Given the description of an element on the screen output the (x, y) to click on. 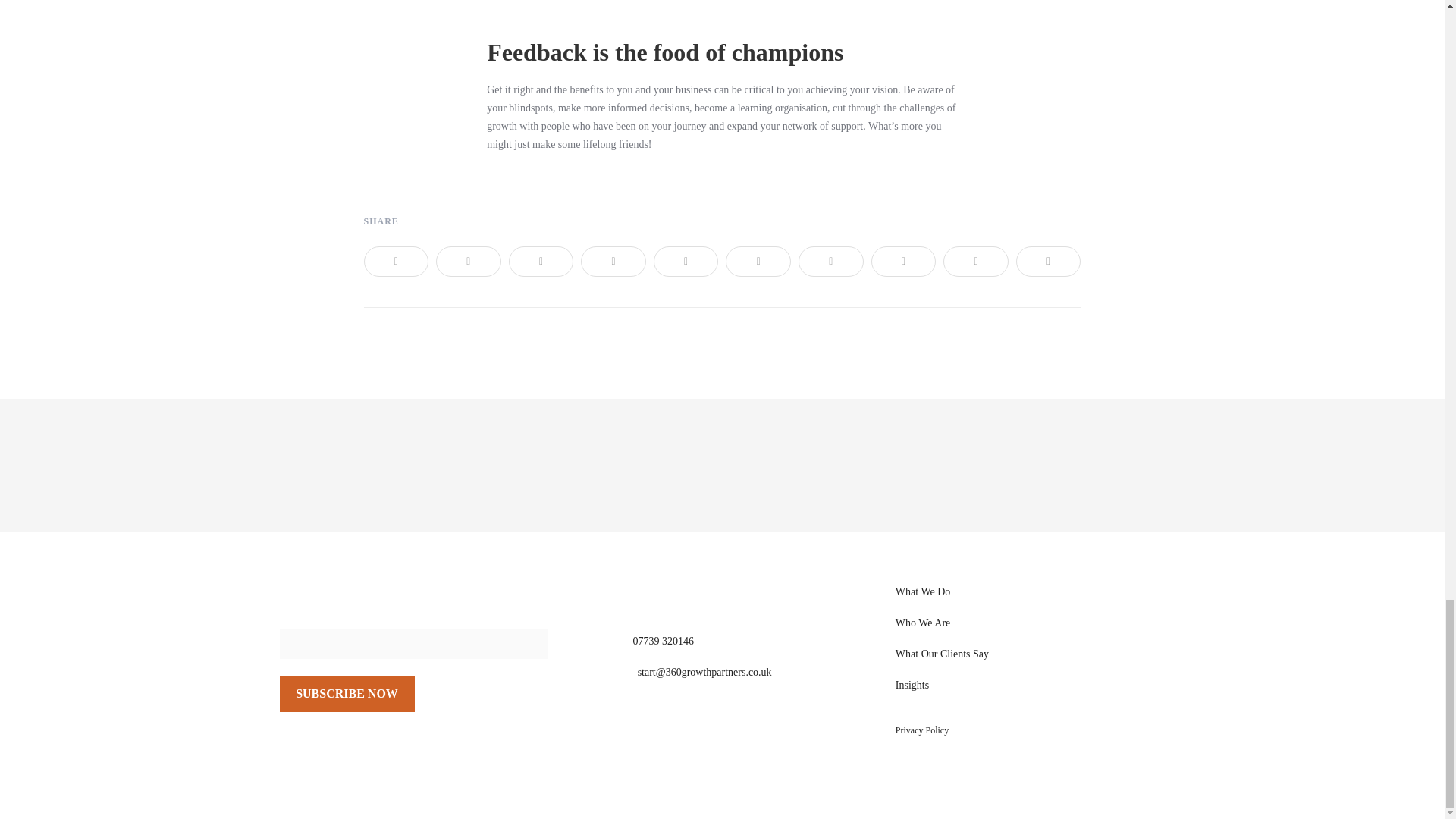
Subscribe now (346, 693)
Insights (911, 685)
What We Do (922, 591)
What Our Clients Say (941, 654)
07739 320146 (662, 641)
Privacy Policy (922, 729)
Who We Are (922, 622)
Subscribe now (346, 693)
